Given the description of an element on the screen output the (x, y) to click on. 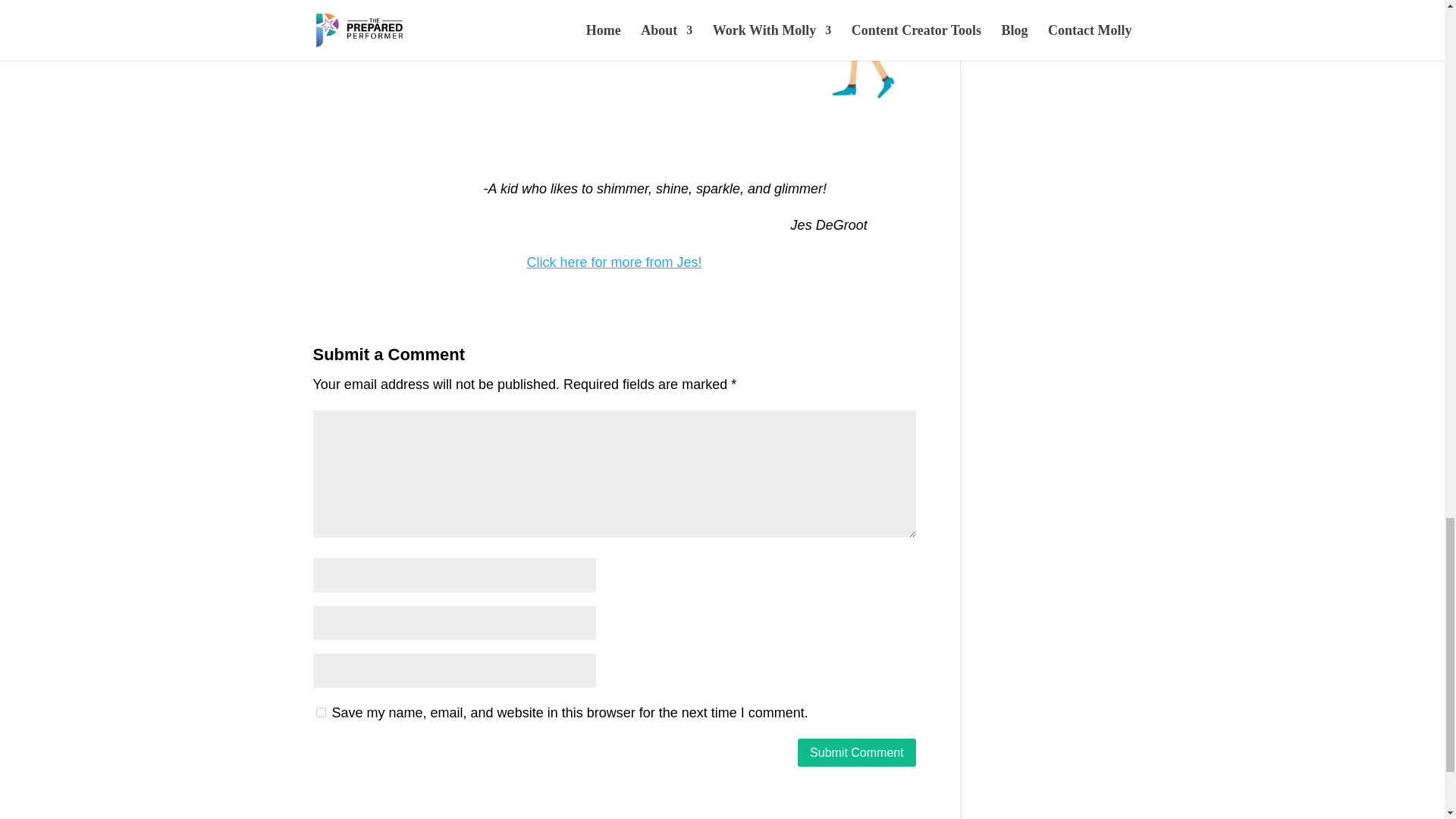
yes (319, 712)
Click here for more from Jes! (614, 262)
Submit Comment (856, 752)
Submit Comment (856, 752)
